Given the description of an element on the screen output the (x, y) to click on. 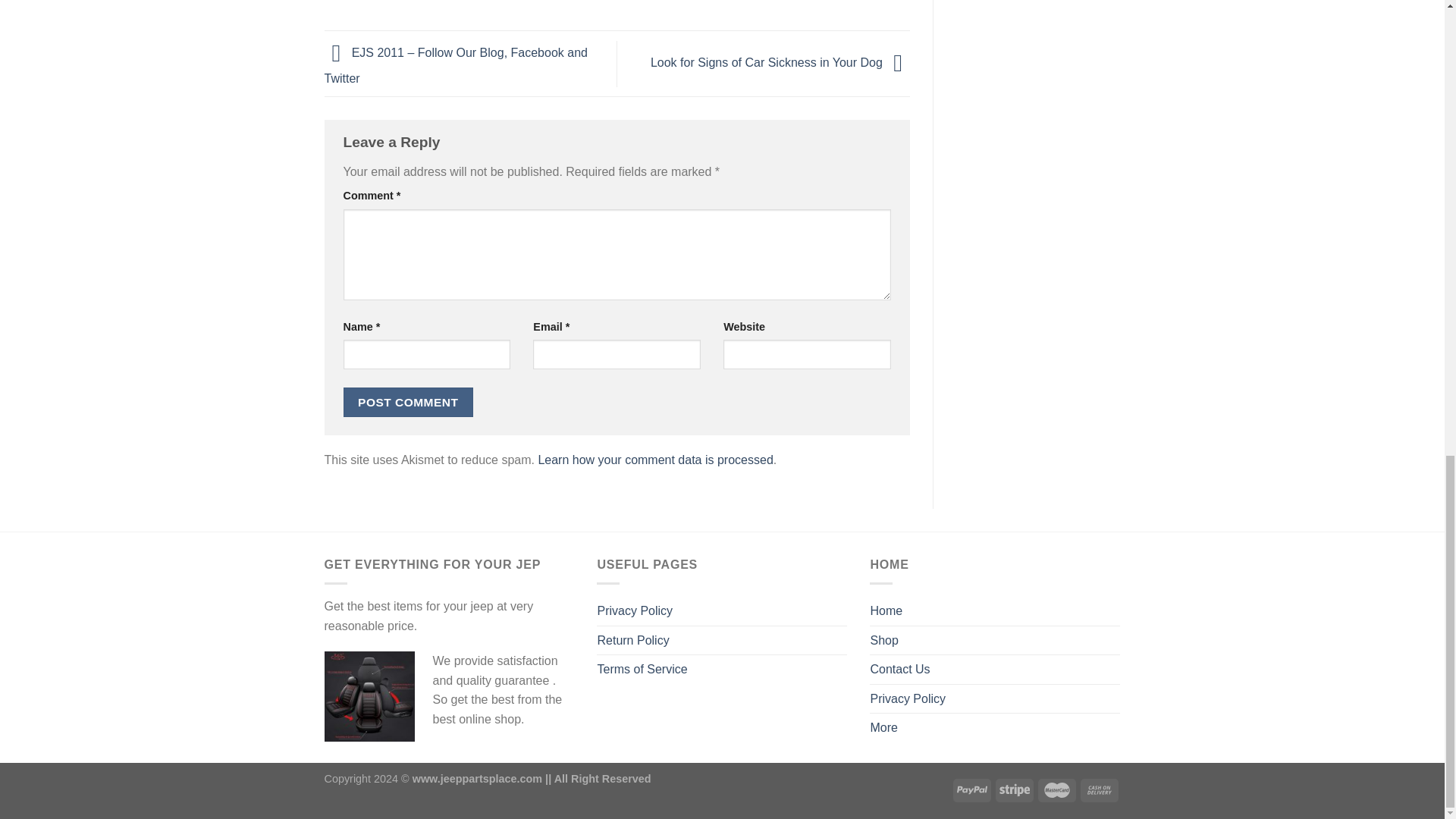
Post Comment (407, 401)
Post Comment (407, 401)
Look for Signs of Car Sickness in Your Dog (780, 62)
Learn how your comment data is processed (655, 459)
